Given the description of an element on the screen output the (x, y) to click on. 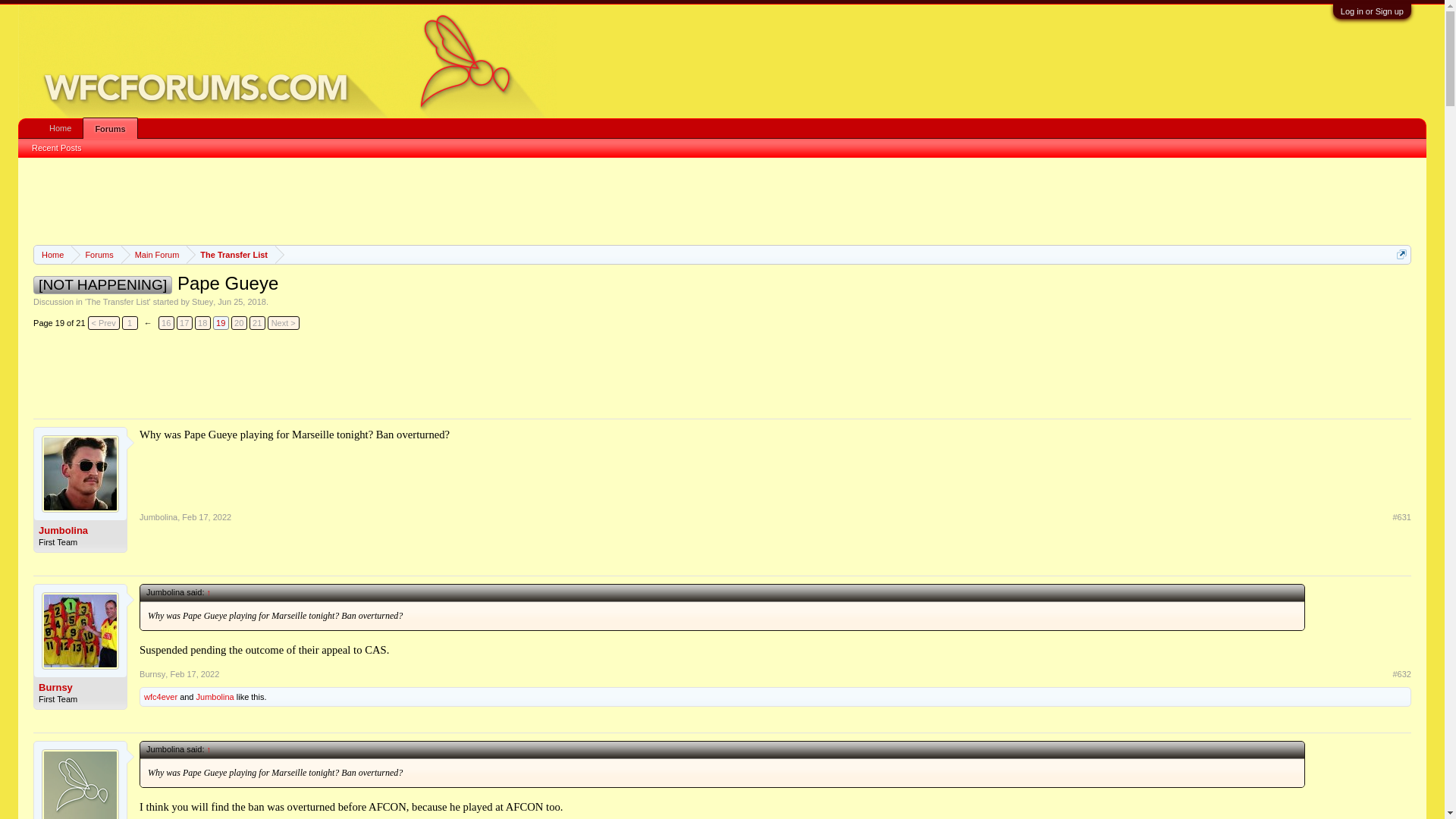
Log in or Sign up (1371, 10)
Permalink (1400, 674)
Jun 25, 2018 at 9:29 AM (241, 301)
Feb 17, 2022 (194, 673)
wfc4ever (160, 696)
Permalink (194, 673)
Advertisement (721, 373)
Stuey (202, 301)
Jumbolina (158, 516)
Open quick navigation (1401, 254)
